Given the description of an element on the screen output the (x, y) to click on. 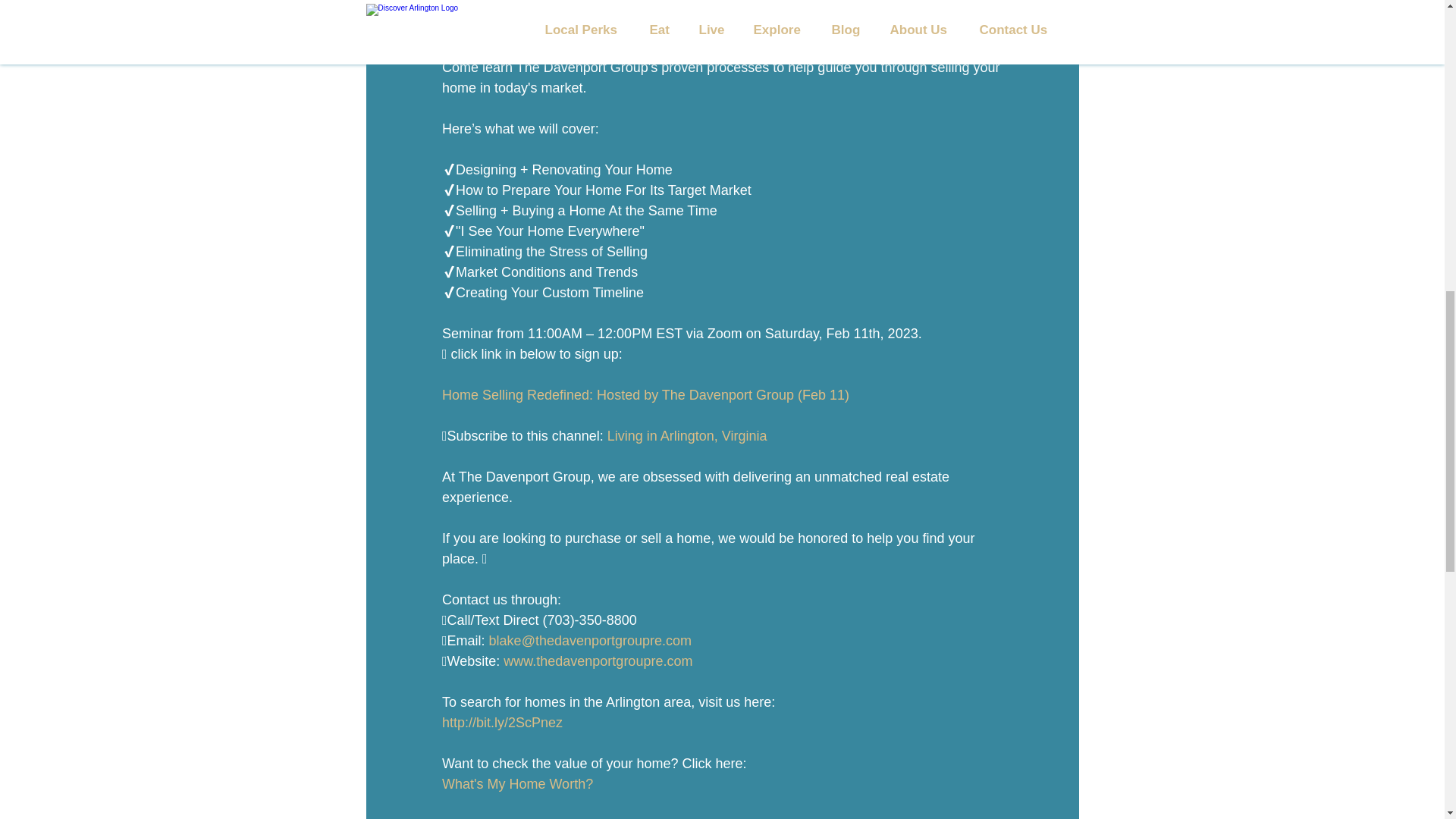
Living in Arlington, Virginia (687, 435)
www.thedavenportgroupre.com (598, 661)
What's My Home Worth? (516, 783)
